Given the description of an element on the screen output the (x, y) to click on. 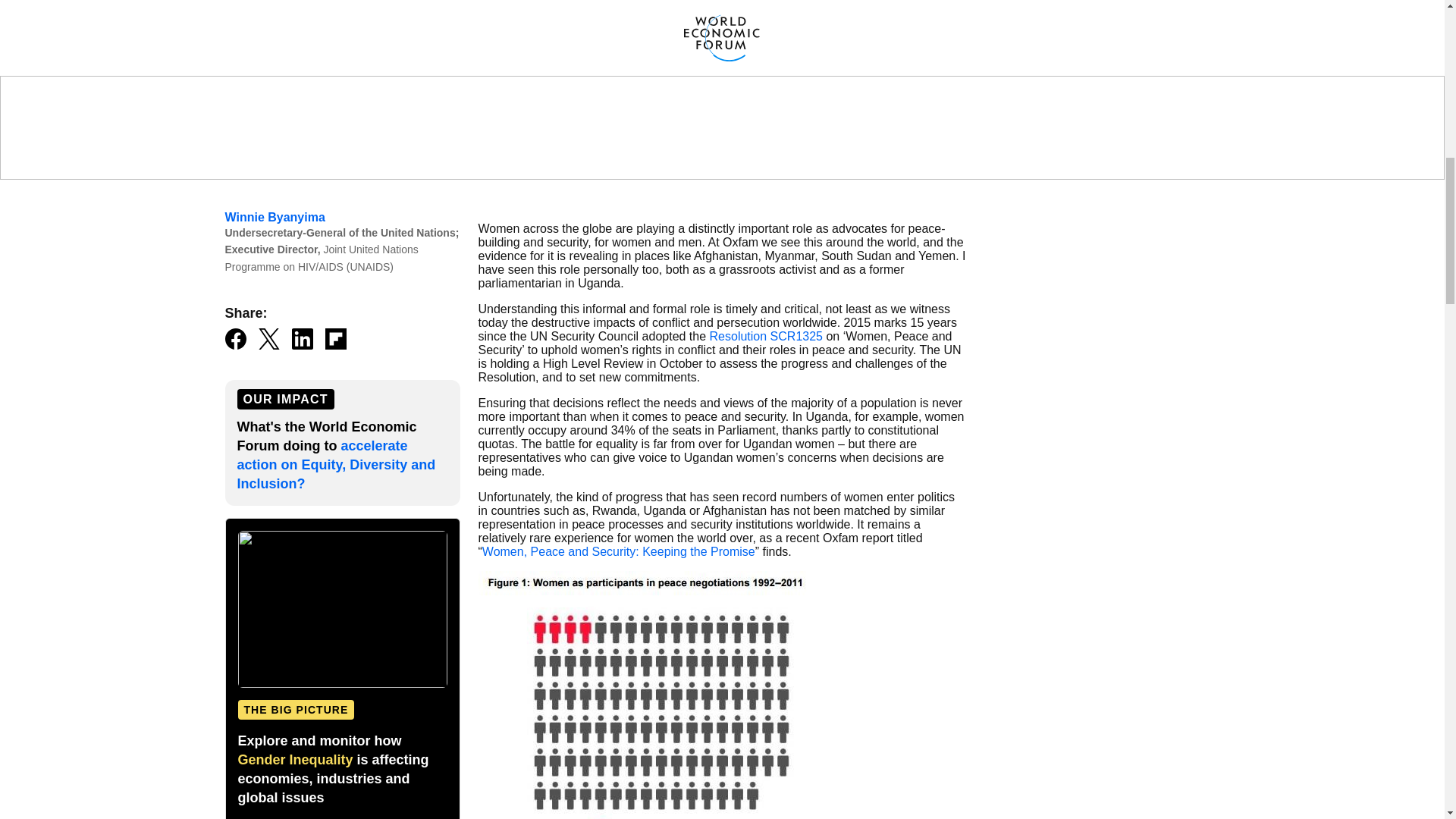
Resolution SCR1325 (766, 336)
Women, Peace and Security: Keeping the Promise (618, 551)
Winnie Byanyima (274, 216)
